Given the description of an element on the screen output the (x, y) to click on. 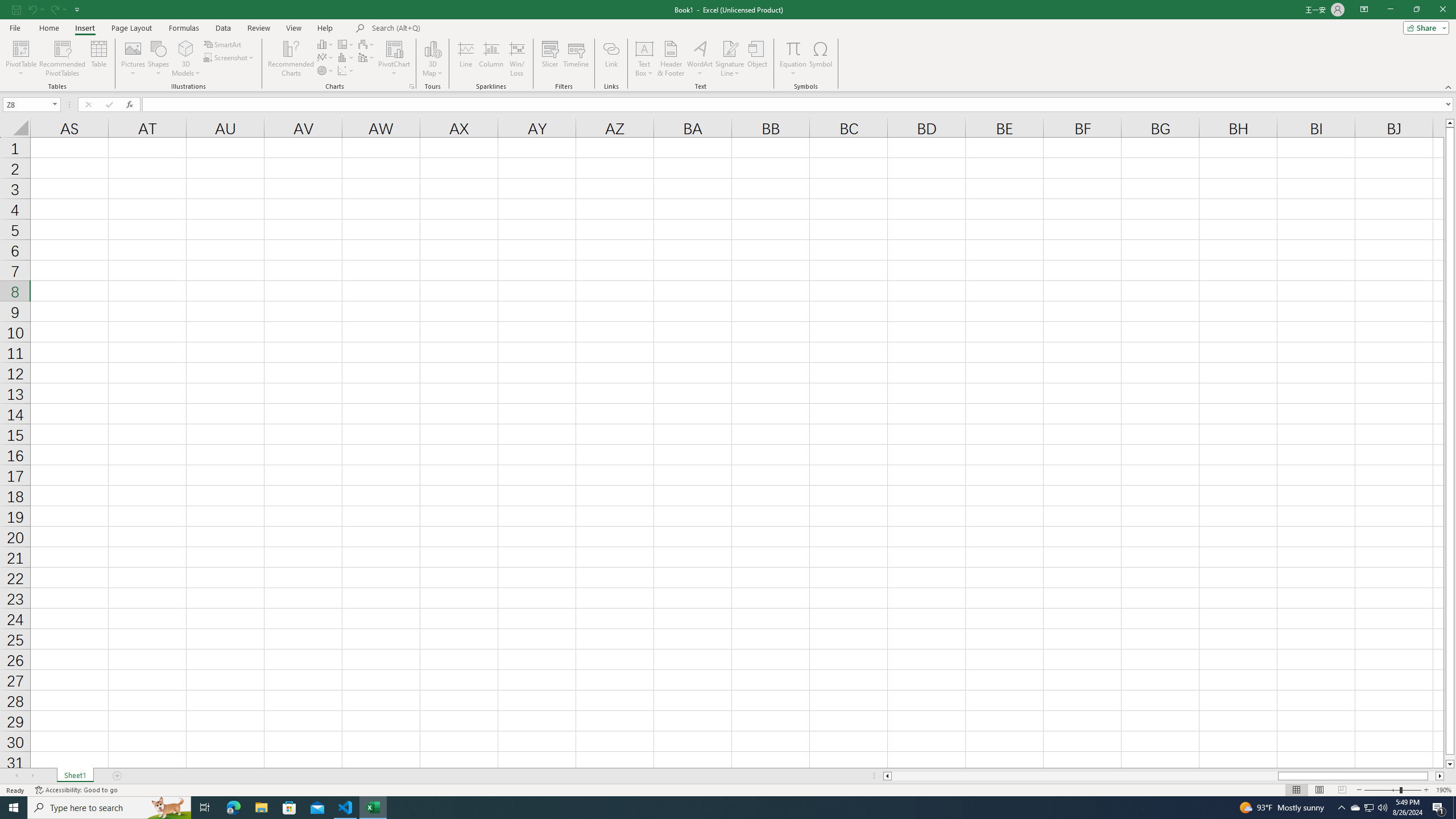
Scroll Right (32, 775)
3D Models (186, 48)
Review (258, 28)
Data (223, 28)
Scroll Left (16, 775)
Insert Hierarchy Chart (346, 44)
Zoom In (1426, 790)
PivotChart (394, 58)
Line up (1449, 122)
Formulas (184, 28)
Ribbon Display Options (1364, 9)
Recommended Charts (411, 85)
Equation (793, 58)
